Given the description of an element on the screen output the (x, y) to click on. 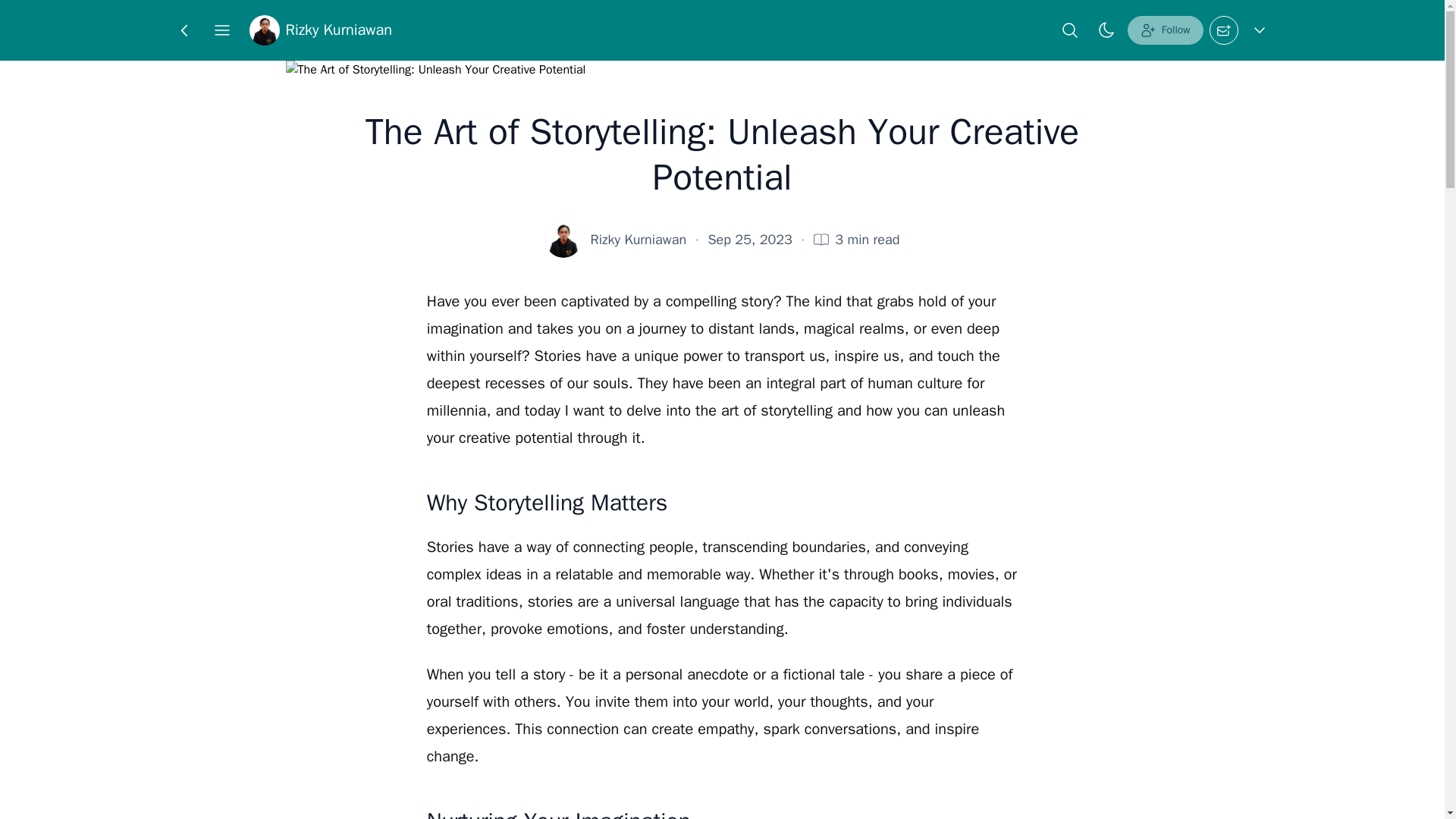
Follow (1165, 30)
Rizky Kurniawan (319, 30)
Sep 25, 2023 (749, 239)
Rizky Kurniawan (639, 239)
